Given the description of an element on the screen output the (x, y) to click on. 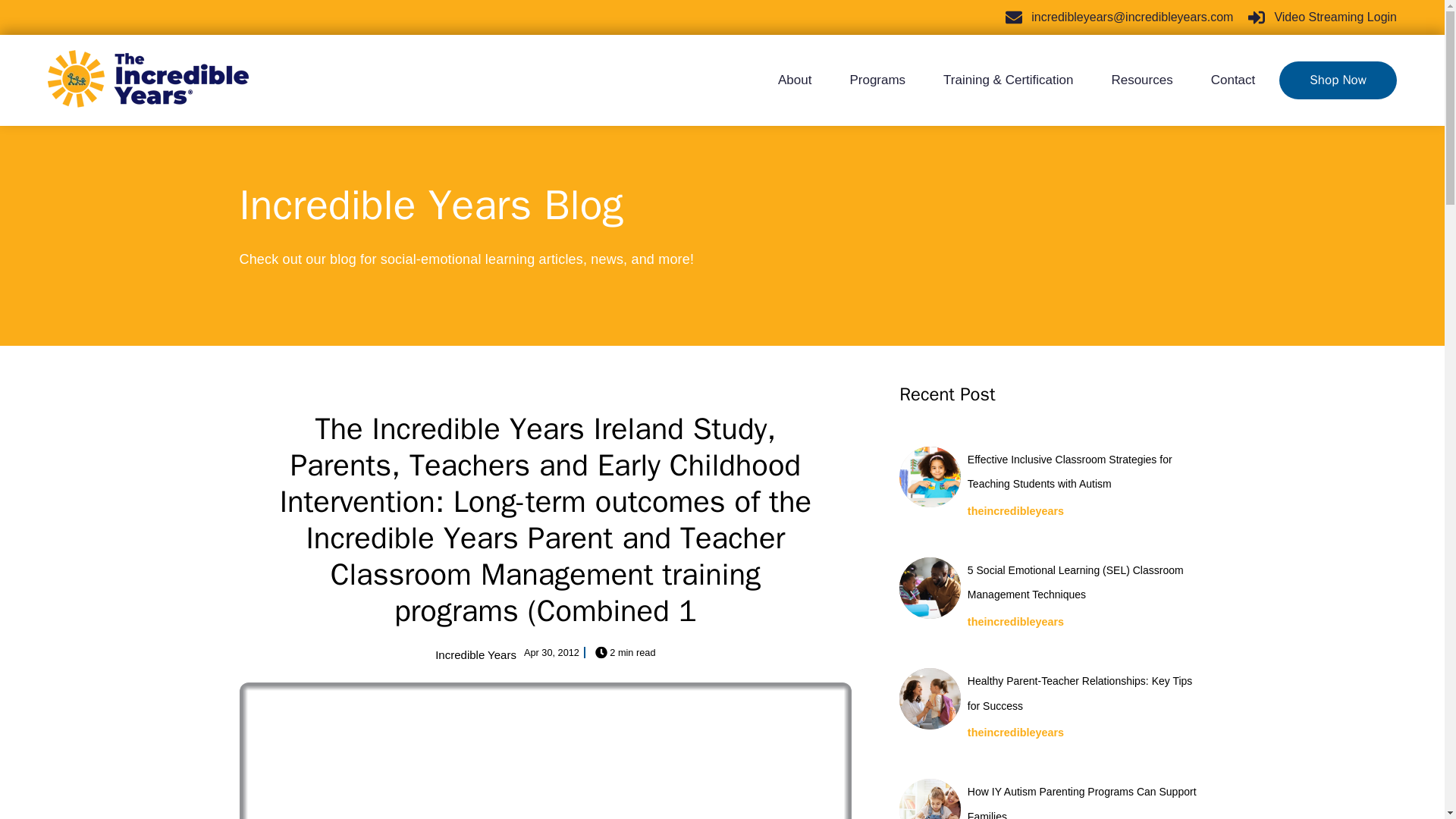
Contact (1223, 80)
Programs (876, 80)
